Given the description of an element on the screen output the (x, y) to click on. 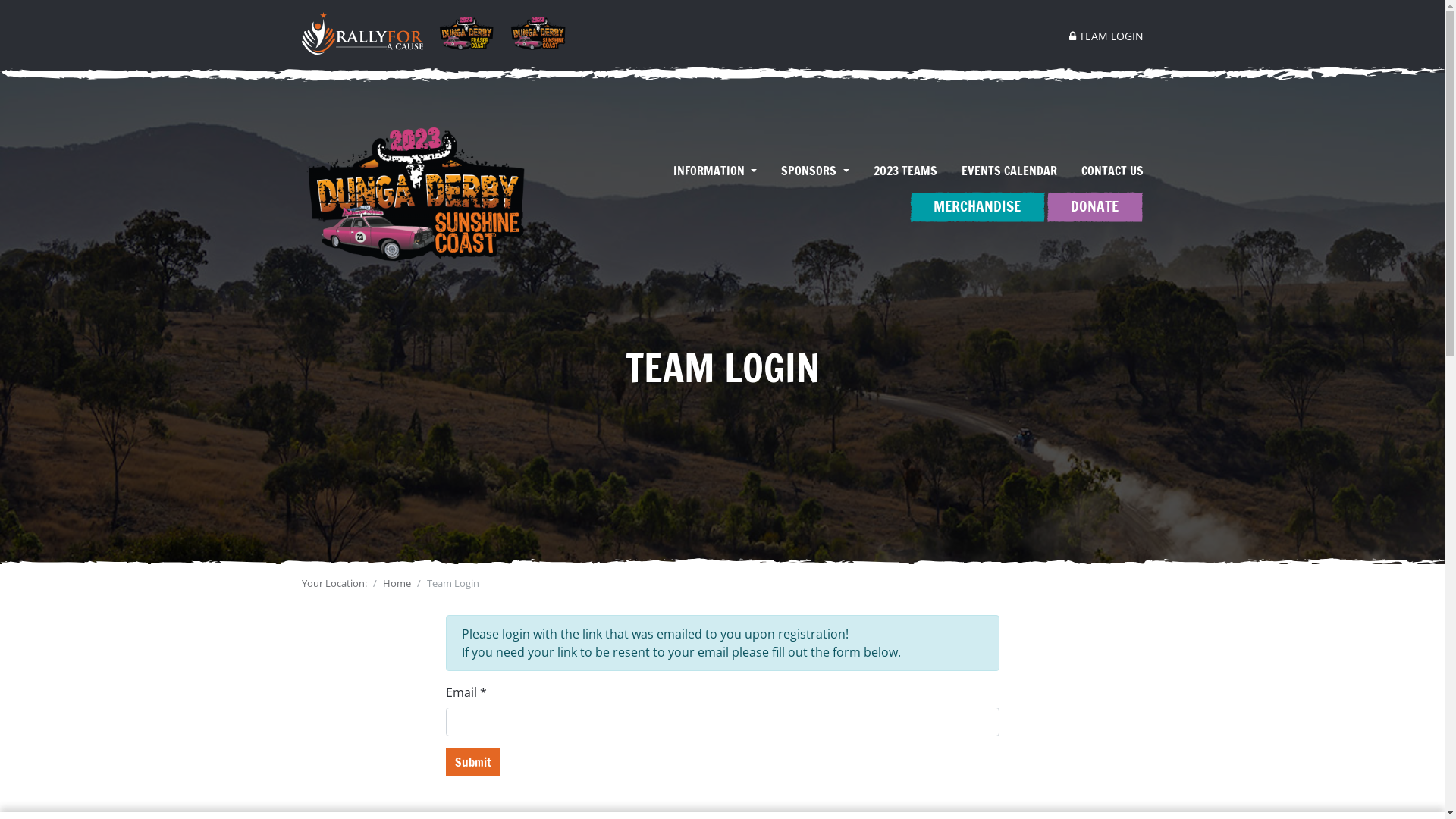
MERCHANDISE Element type: text (976, 206)
2023 TEAMS Element type: text (905, 170)
CONTACT US Element type: text (1106, 170)
DONATE Element type: text (1093, 206)
INFORMATION Element type: text (714, 170)
Home Element type: text (396, 582)
Submit Element type: text (472, 761)
EVENTS CALENDAR Element type: text (1009, 170)
TEAM LOGIN Element type: text (1100, 36)
SPONSORS Element type: text (814, 170)
